Given the description of an element on the screen output the (x, y) to click on. 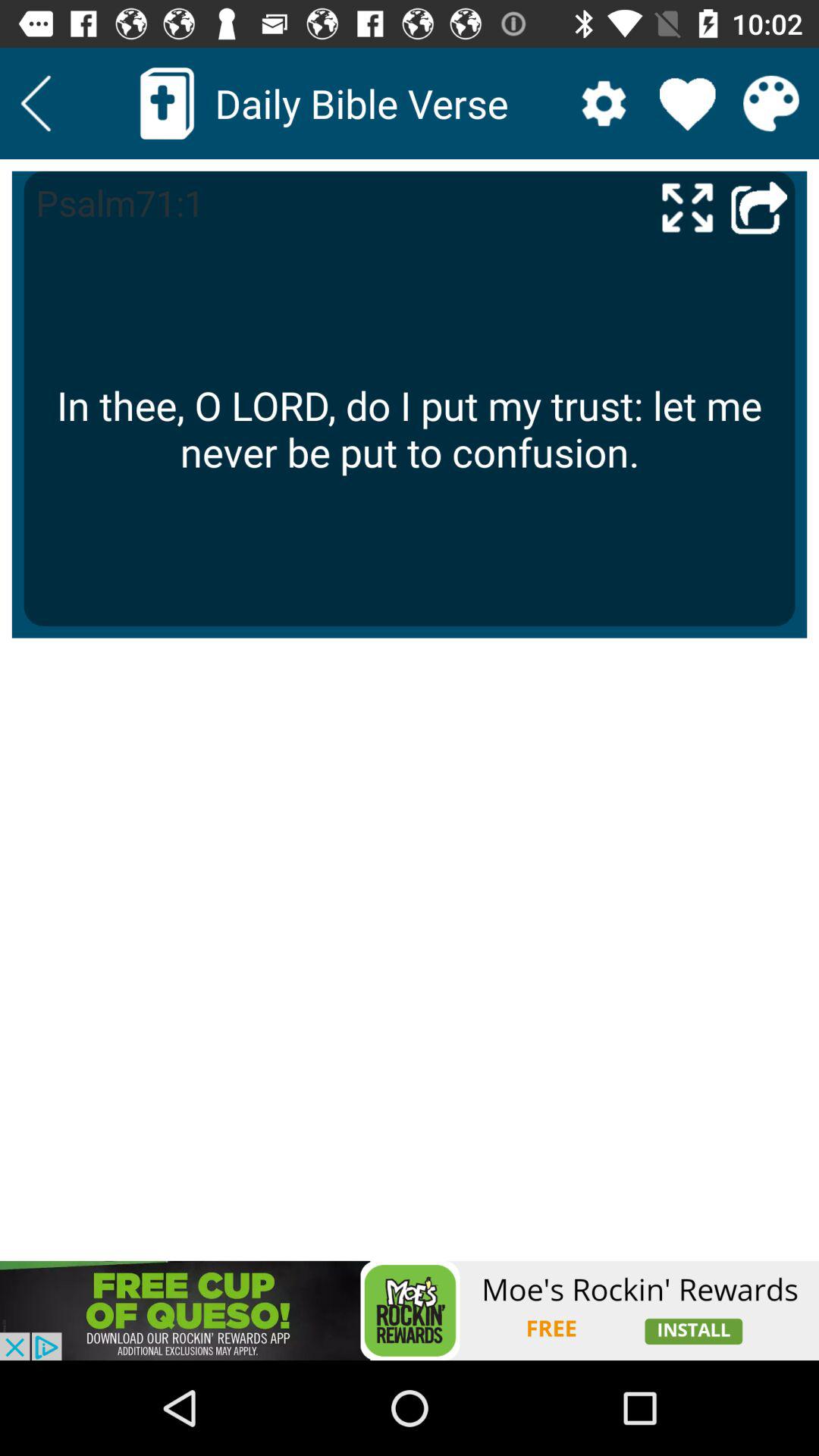
like (687, 103)
